Given the description of an element on the screen output the (x, y) to click on. 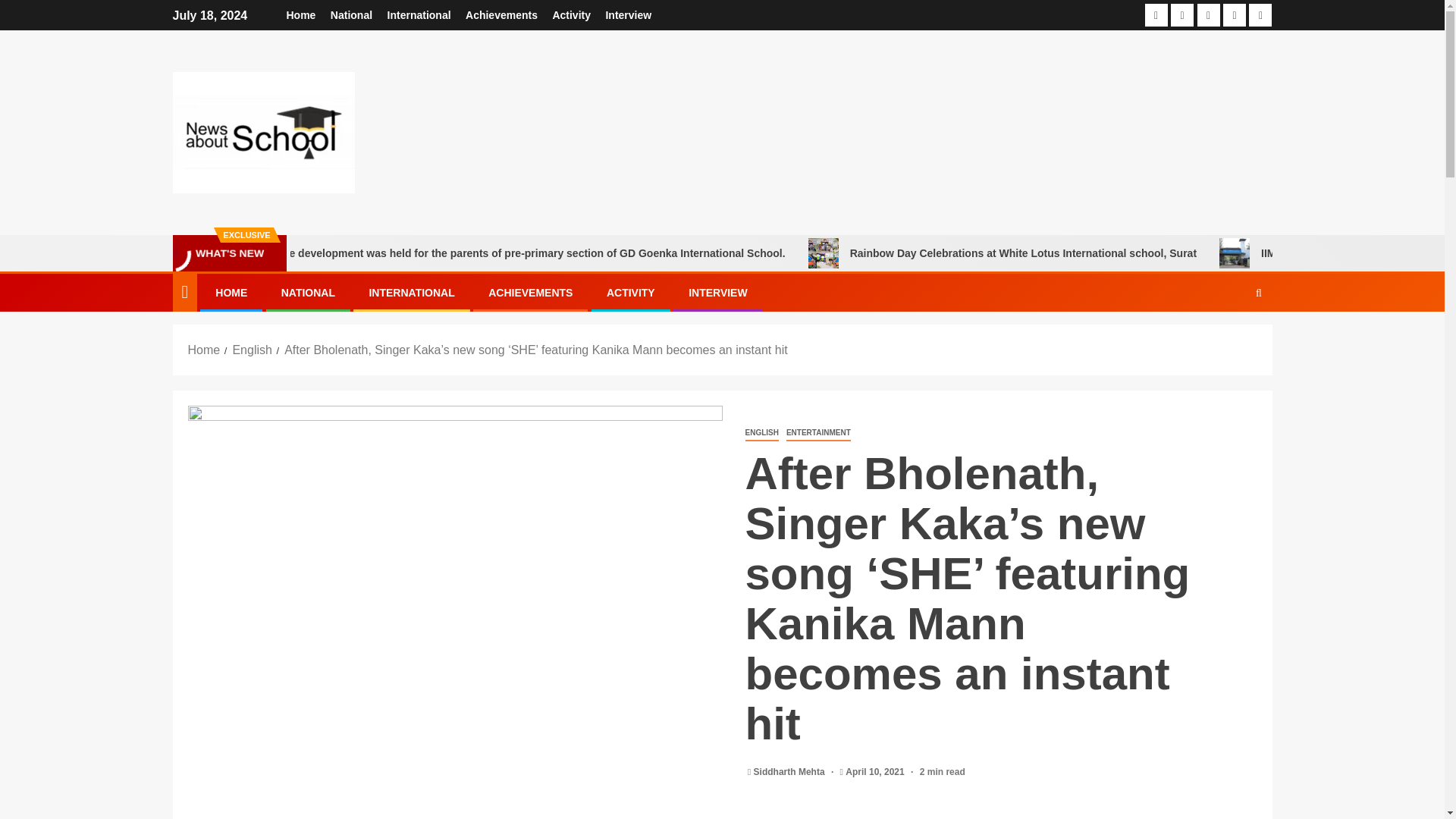
Home (204, 349)
Siddharth Mehta (790, 771)
NATIONAL (307, 292)
International (419, 15)
INTERNATIONAL (411, 292)
Interview (627, 15)
INTERVIEW (718, 292)
English (250, 349)
ENTERTAINMENT (818, 433)
ACTIVITY (631, 292)
